Given the description of an element on the screen output the (x, y) to click on. 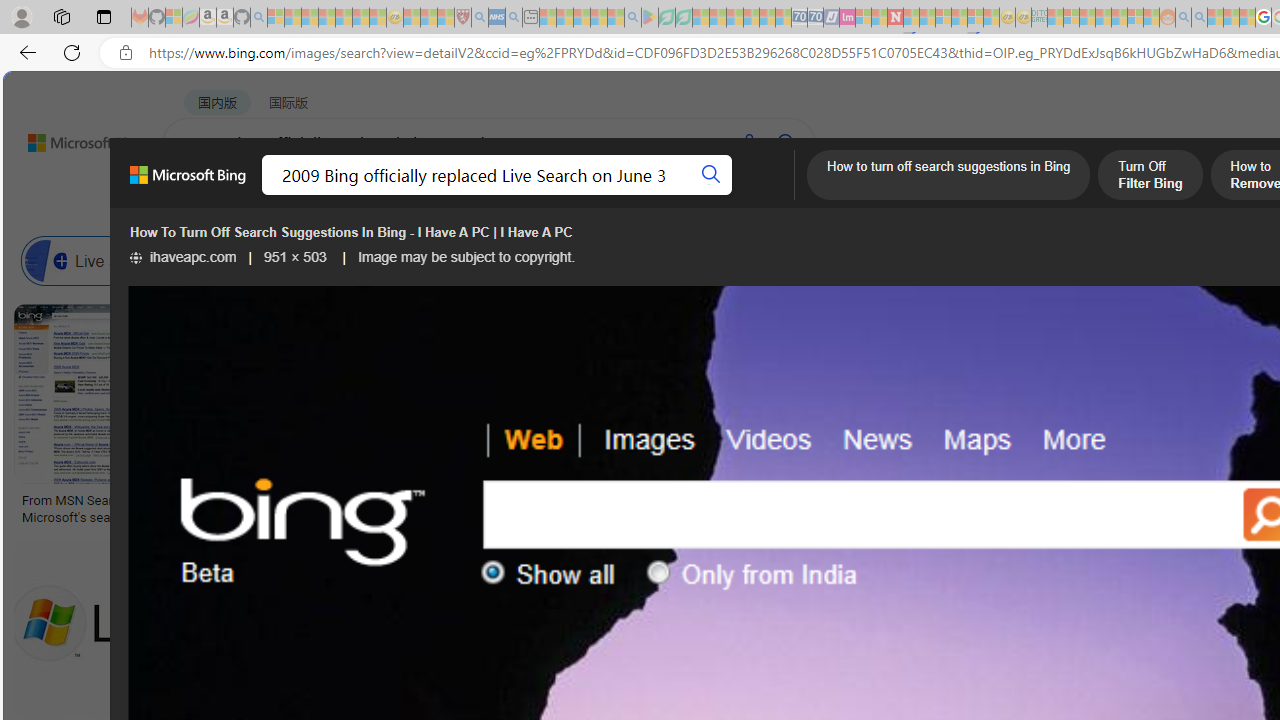
Bluey: Let's Play! - Apps on Google Play - Sleeping (649, 17)
Bing Ai Search Engine Powered (830, 260)
How to turn off search suggestions in Bing (948, 177)
Bing Logo and symbol, meaning, history, PNG, brandSave (422, 417)
Bing Logo and symbol, meaning, history, PNG, brand (418, 508)
Bing Best Search Engine (1115, 260)
Class: item col (943, 260)
